Given the description of an element on the screen output the (x, y) to click on. 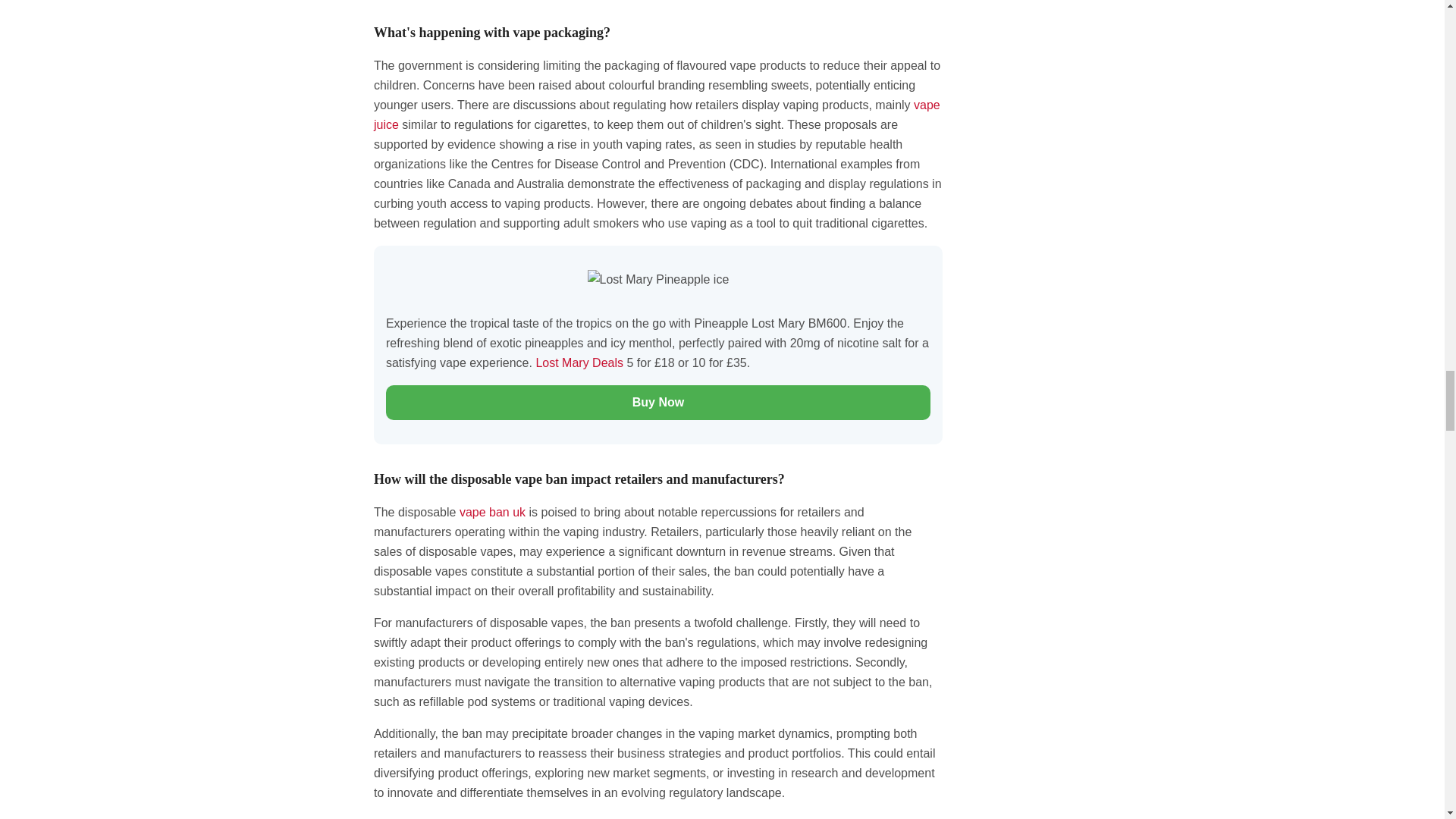
shortfill e-liquids (657, 114)
lost mary flavours (580, 362)
disposable vape ban (492, 512)
